Given the description of an element on the screen output the (x, y) to click on. 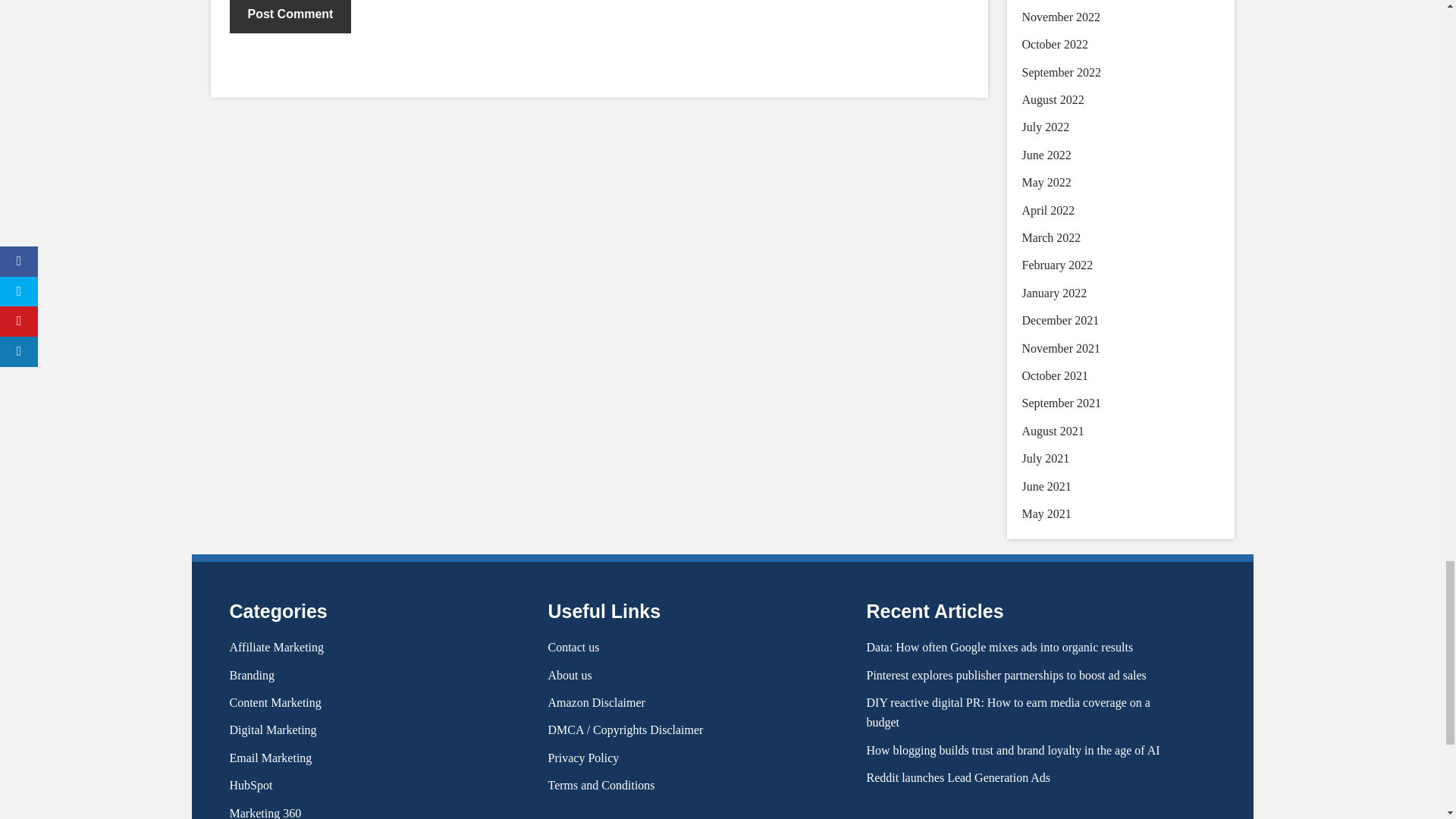
Post Comment (289, 16)
